Given the description of an element on the screen output the (x, y) to click on. 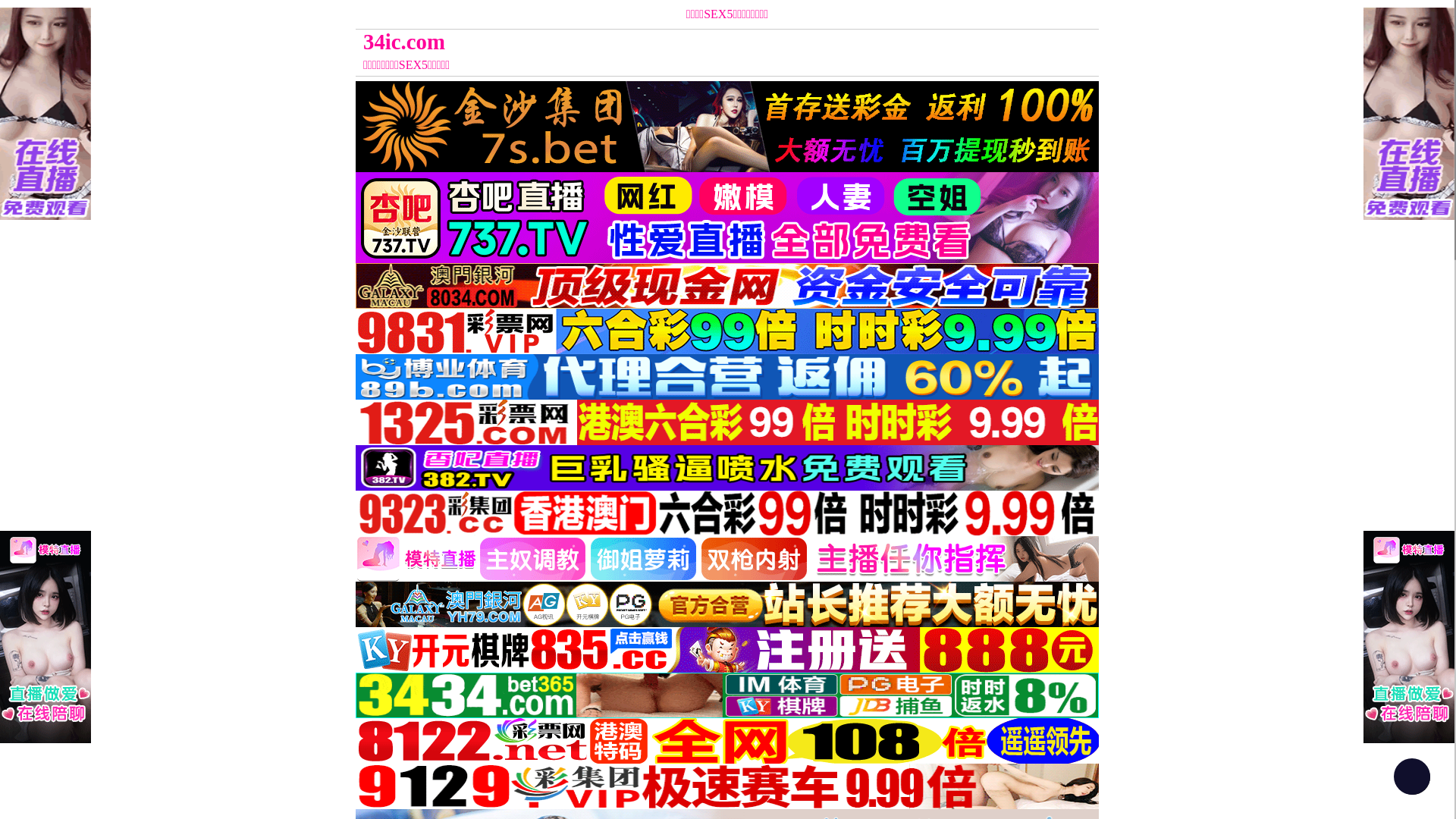
34ic.com Element type: text (634, 41)
